Given the description of an element on the screen output the (x, y) to click on. 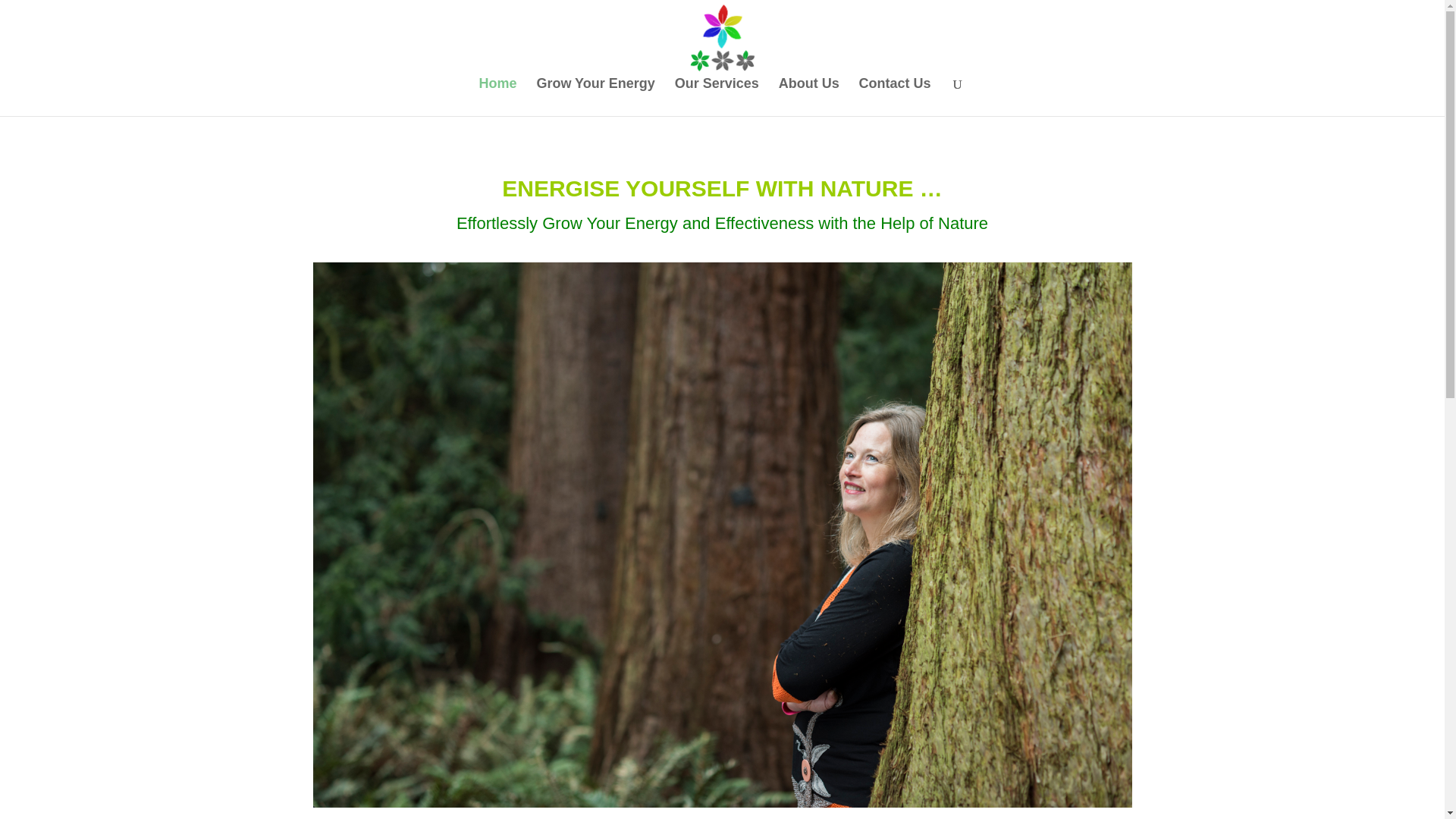
Our Services (716, 96)
Home (497, 96)
About Us (809, 96)
Grow Your Energy (594, 96)
Contact Us (895, 96)
